Given the description of an element on the screen output the (x, y) to click on. 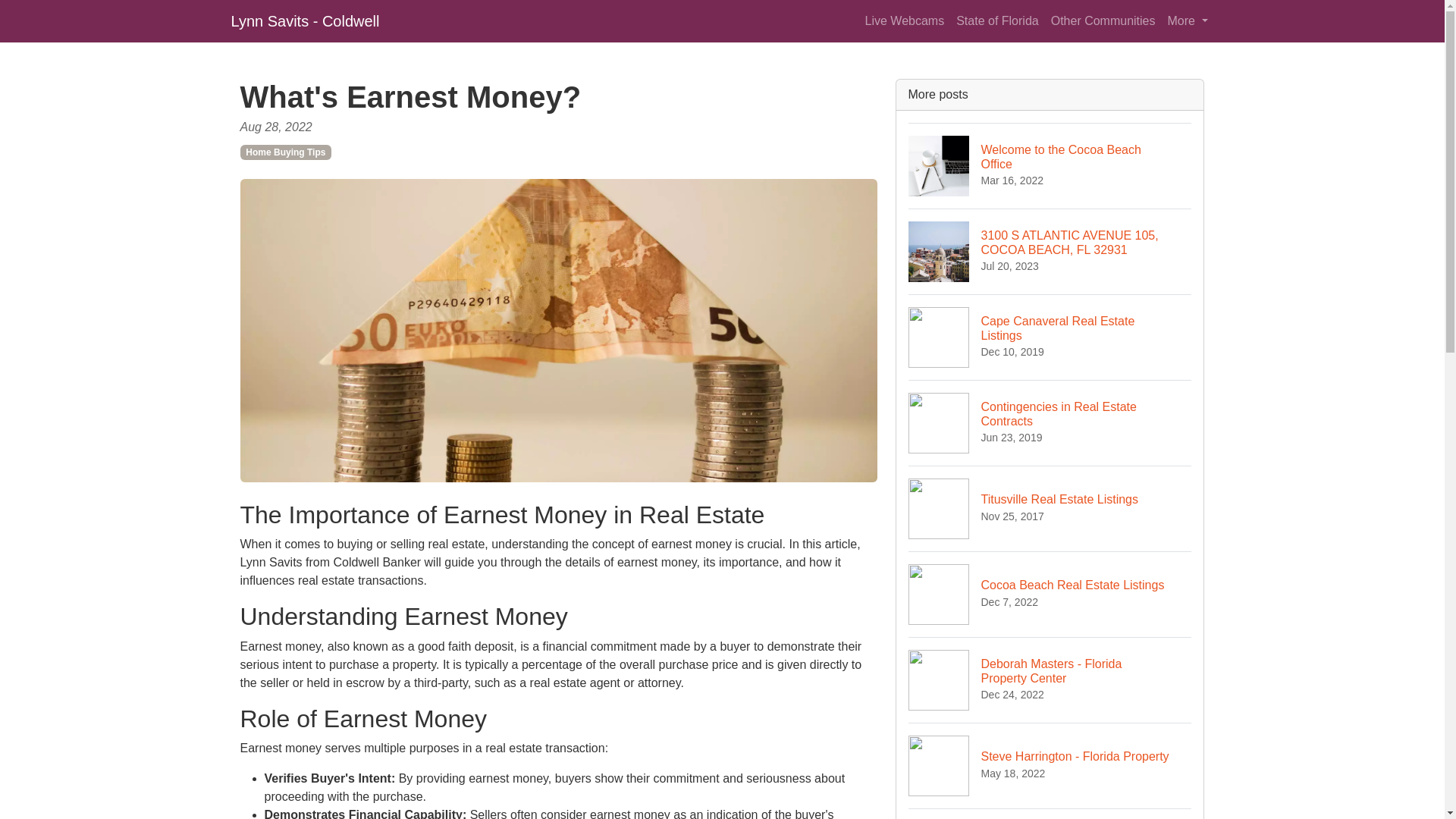
Lynn Savits - Coldwell (1050, 165)
State of Florida (1050, 594)
Home Buying Tips (304, 20)
Live Webcams (1050, 423)
Other Communities (997, 20)
More (1050, 765)
